Given the description of an element on the screen output the (x, y) to click on. 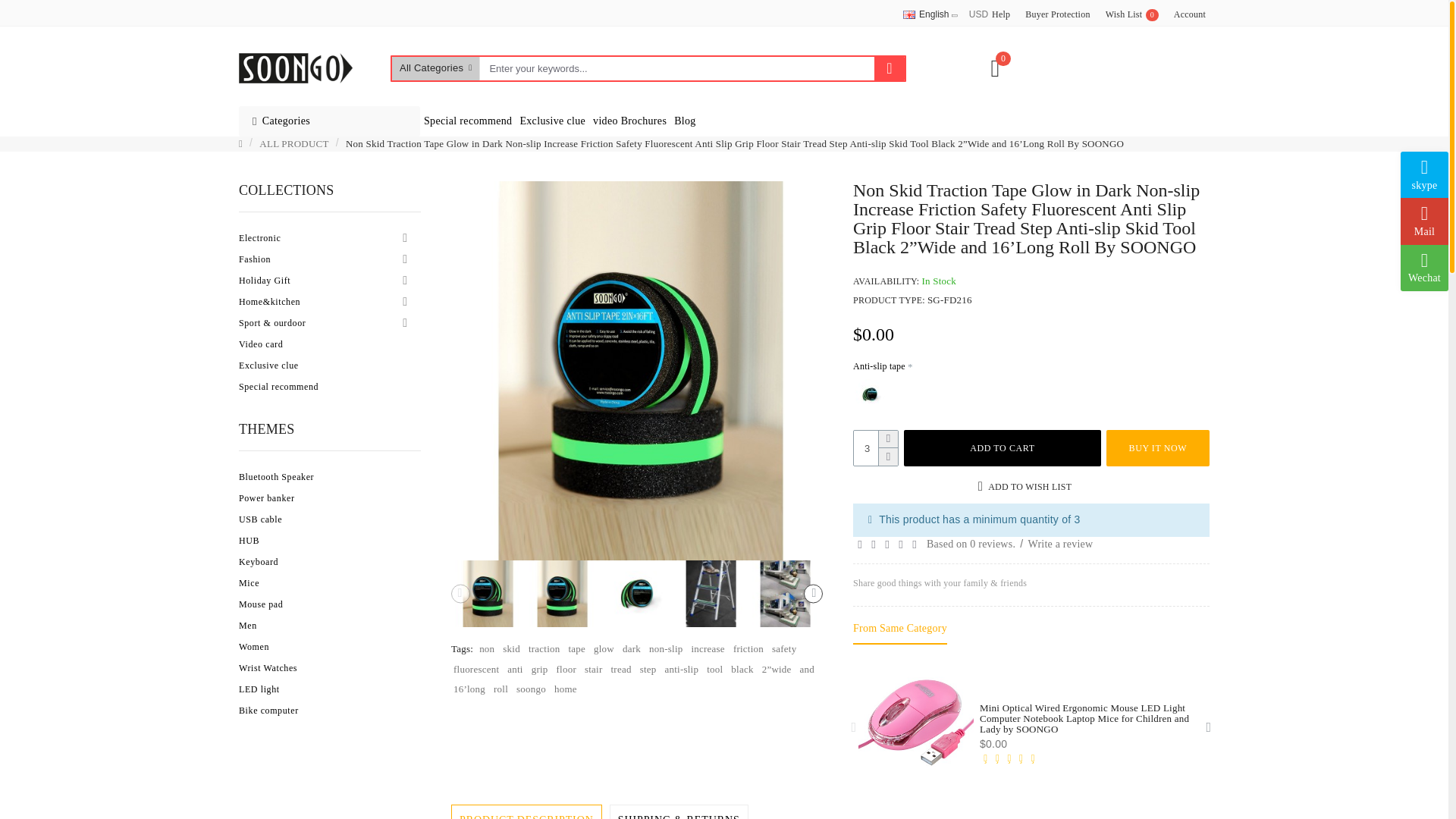
Buyer Protection (1057, 15)
English (908, 14)
3 (875, 448)
Account (1131, 15)
Lxbest (1189, 15)
English (295, 68)
USD (925, 14)
